Given the description of an element on the screen output the (x, y) to click on. 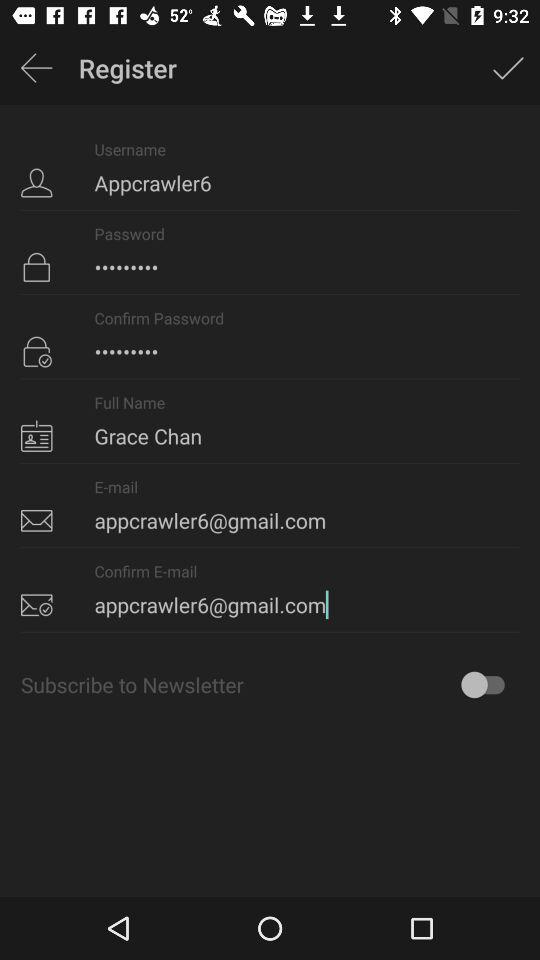
choose icon next to the register app (508, 67)
